Given the description of an element on the screen output the (x, y) to click on. 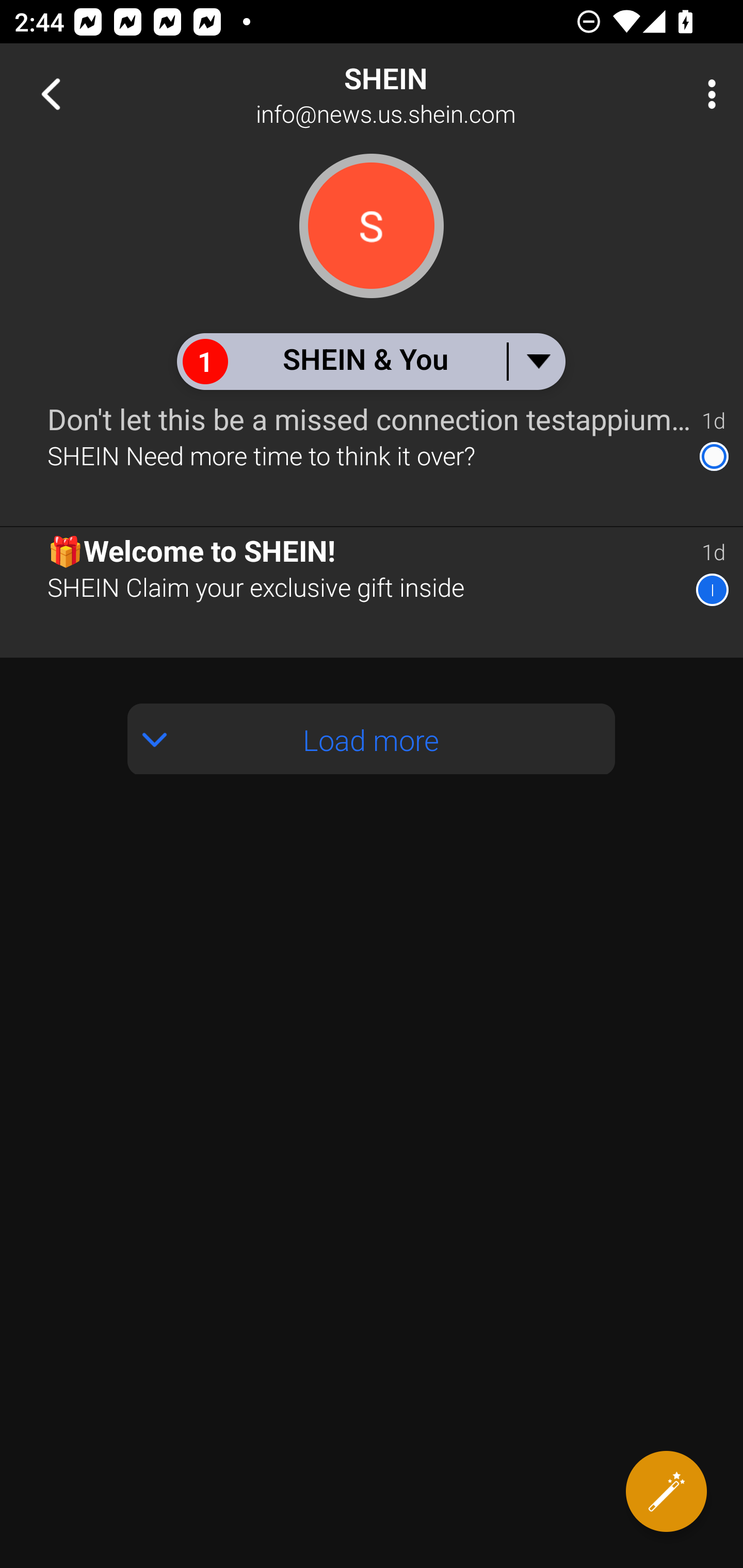
Navigate up (50, 93)
SHEIN info@news.us.shein.com (436, 93)
More Options (706, 93)
1 SHEIN & You (370, 361)
Load more (371, 739)
